Given the description of an element on the screen output the (x, y) to click on. 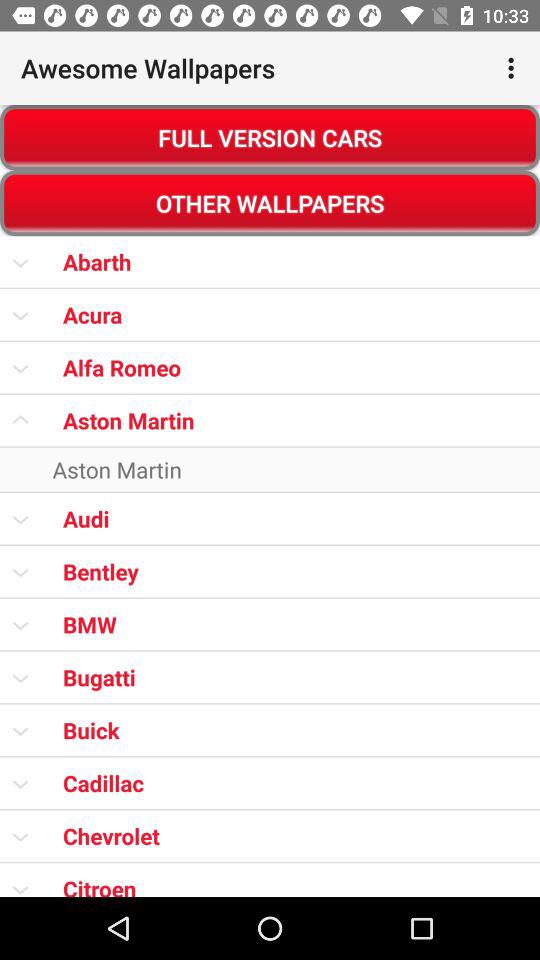
choose icon above the full version cars icon (513, 67)
